Given the description of an element on the screen output the (x, y) to click on. 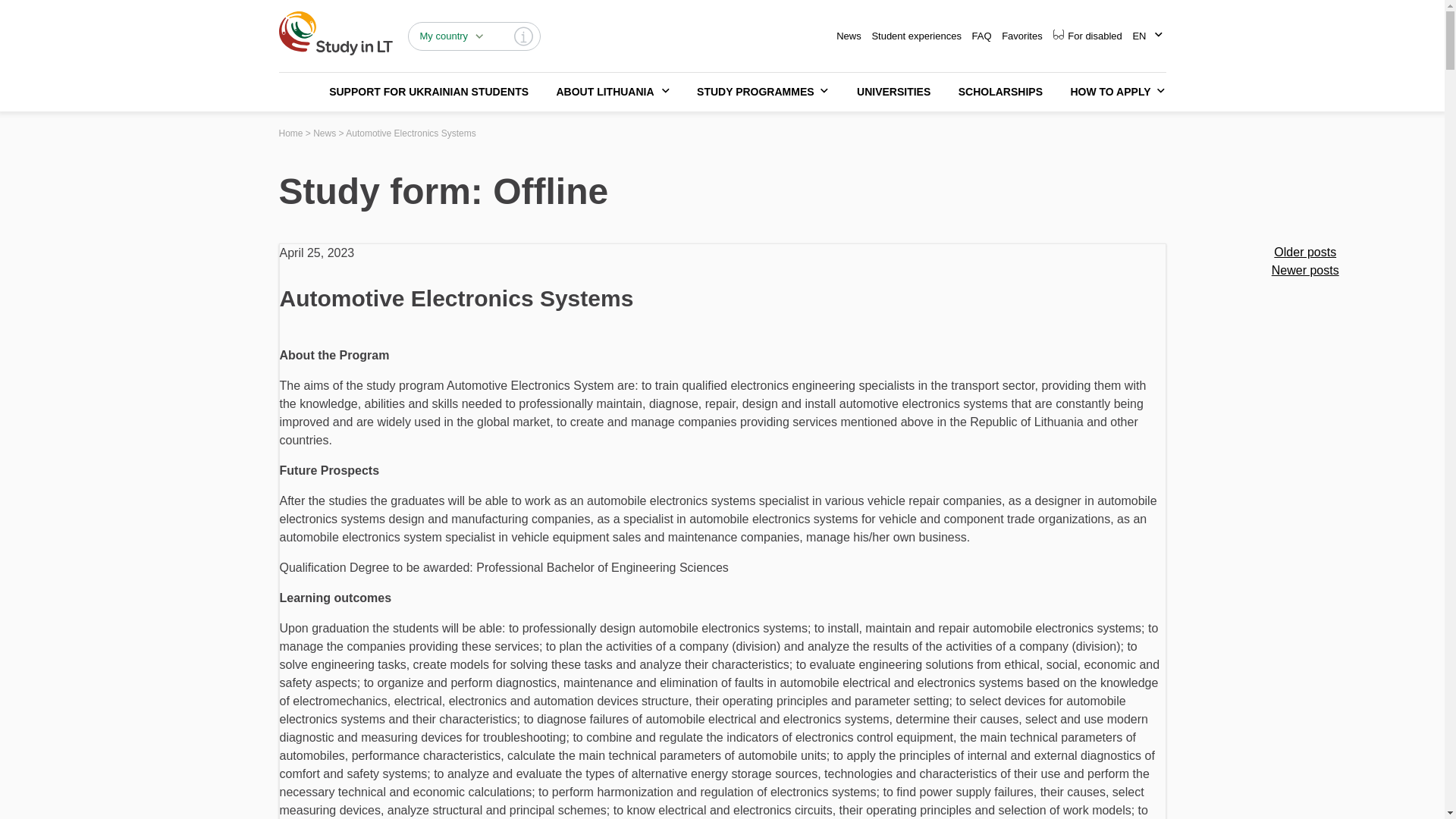
UNIVERSITIES (893, 91)
FAQ (981, 36)
ABOUT LITHUANIA (599, 91)
Study in Lithuania (336, 33)
Favorites (1021, 36)
SUPPORT FOR UKRAINIAN STUDENTS (428, 91)
EN (1138, 36)
SCHOLARSHIPS (1000, 91)
Go to Home (290, 132)
STUDY PROGRAMMES (750, 91)
Student experiences (915, 36)
For disabled (1087, 36)
News (848, 36)
Go to the News archives. (324, 132)
